Given the description of an element on the screen output the (x, y) to click on. 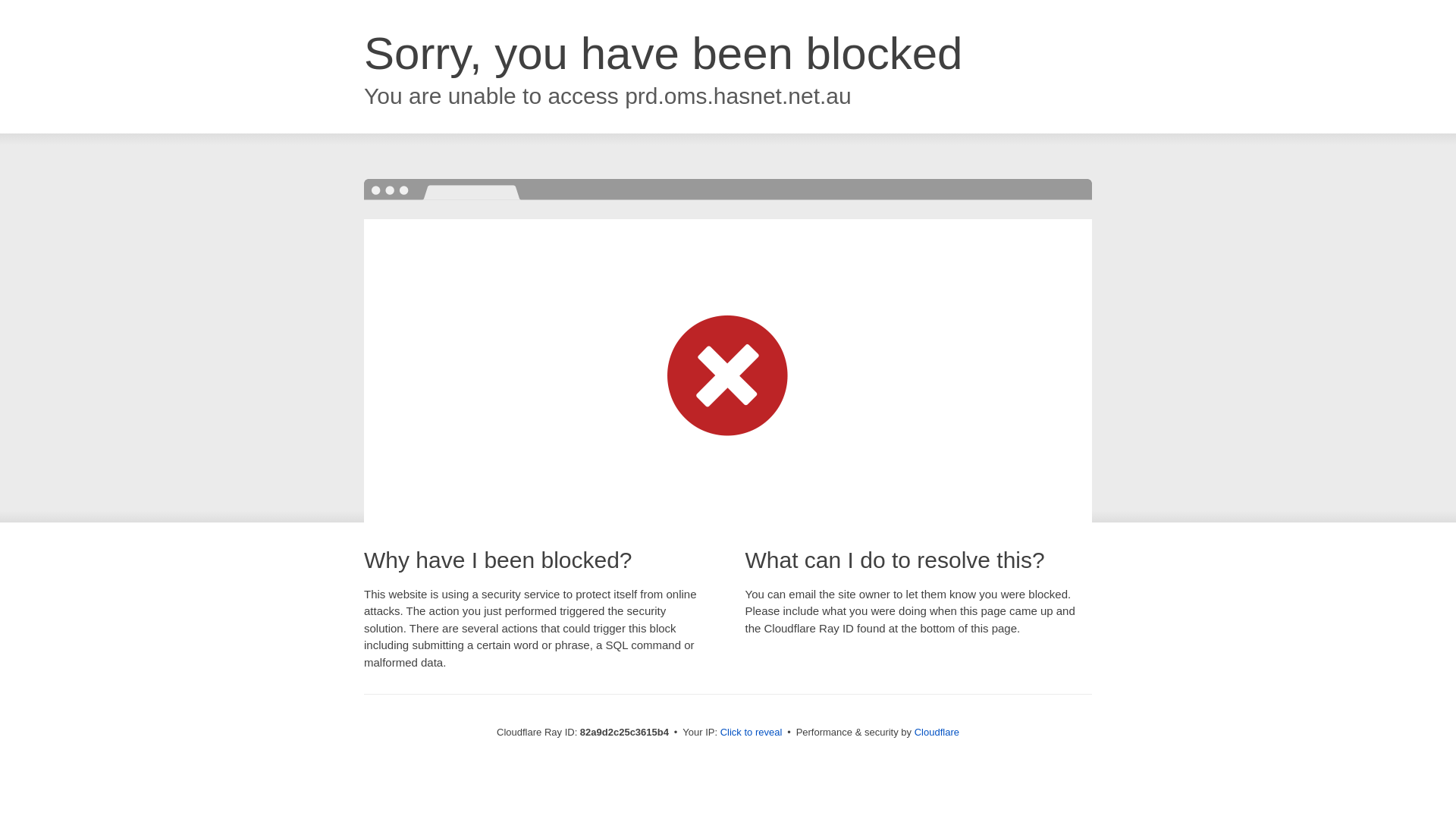
Cloudflare Element type: text (936, 731)
Click to reveal Element type: text (751, 732)
